Given the description of an element on the screen output the (x, y) to click on. 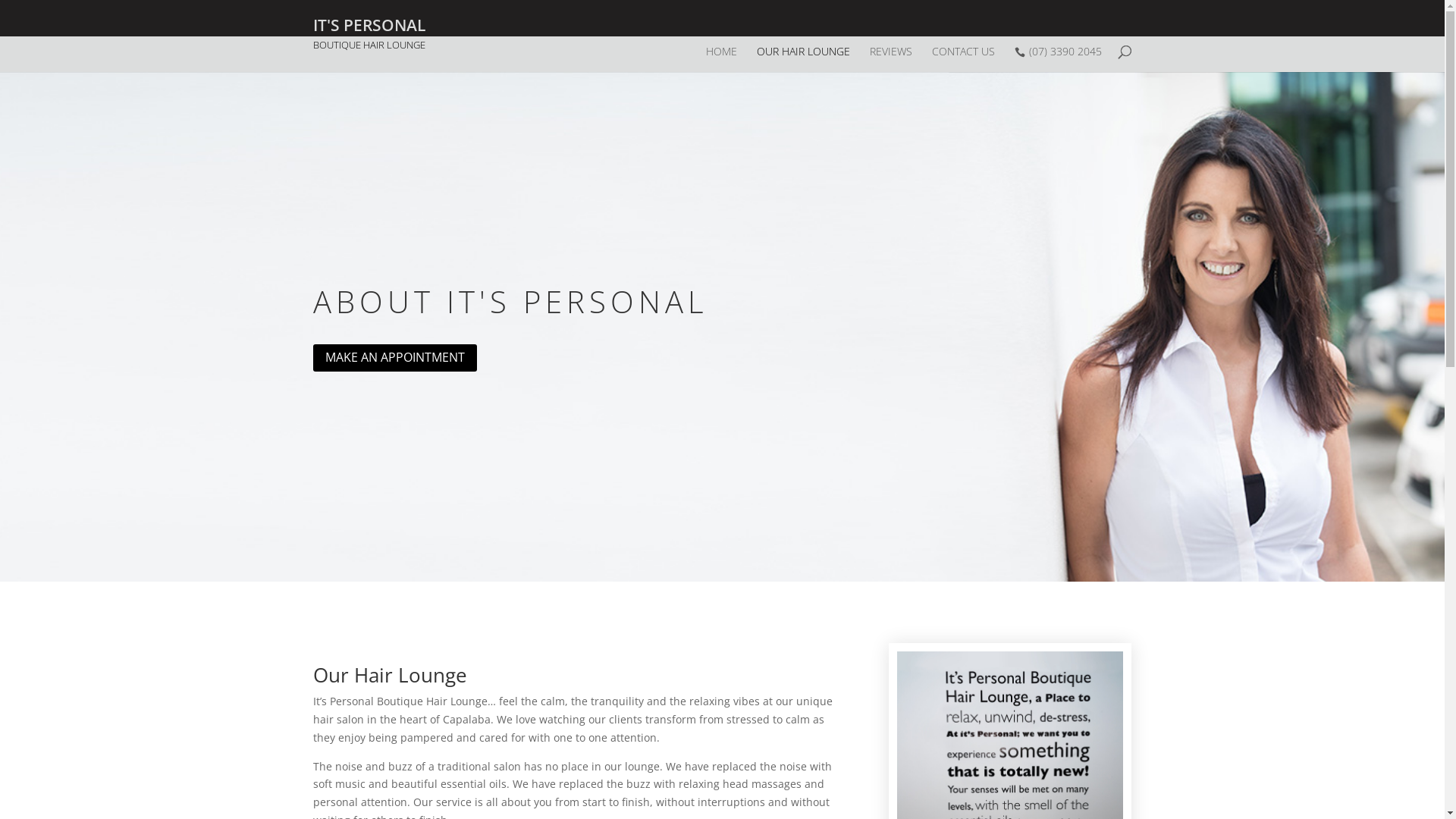
CONTACT US Element type: text (962, 59)
HOME Element type: text (720, 59)
(07) 3390 2045 Element type: text (1057, 58)
REVIEWS Element type: text (890, 59)
MAKE AN APPOINTMENT Element type: text (394, 358)
OUR HAIR LOUNGE Element type: text (803, 59)
